Given the description of an element on the screen output the (x, y) to click on. 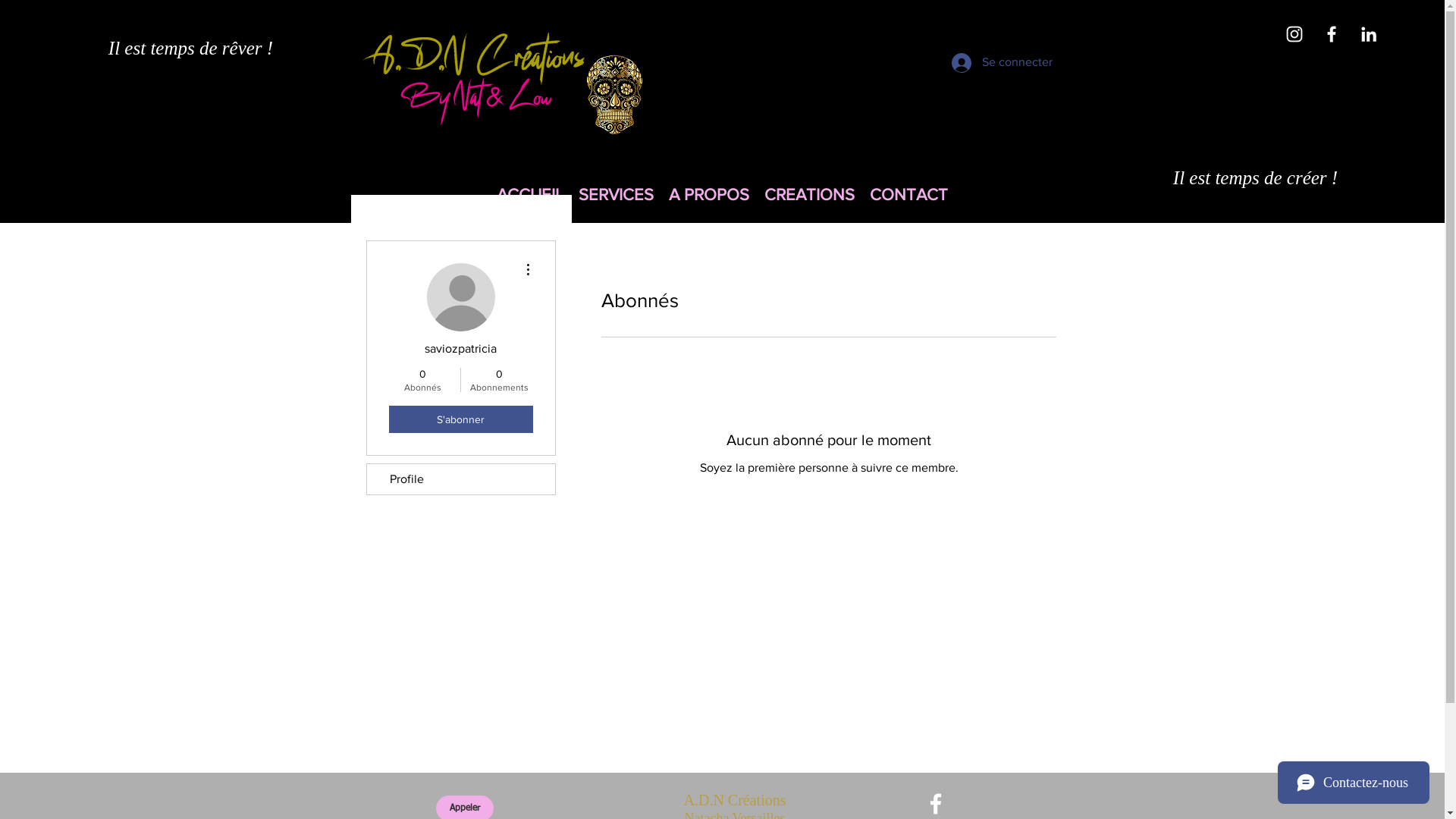
CREATIONS Element type: text (809, 194)
SERVICES Element type: text (616, 194)
S'abonner Element type: text (460, 419)
Followers Element type: hover (827, 520)
ACCUEIL Element type: text (530, 194)
0
Abonnements Element type: text (499, 379)
Profile Element type: text (461, 479)
CONTACT Element type: text (908, 194)
A PROPOS Element type: text (708, 194)
Se connecter Element type: text (985, 62)
